Given the description of an element on the screen output the (x, y) to click on. 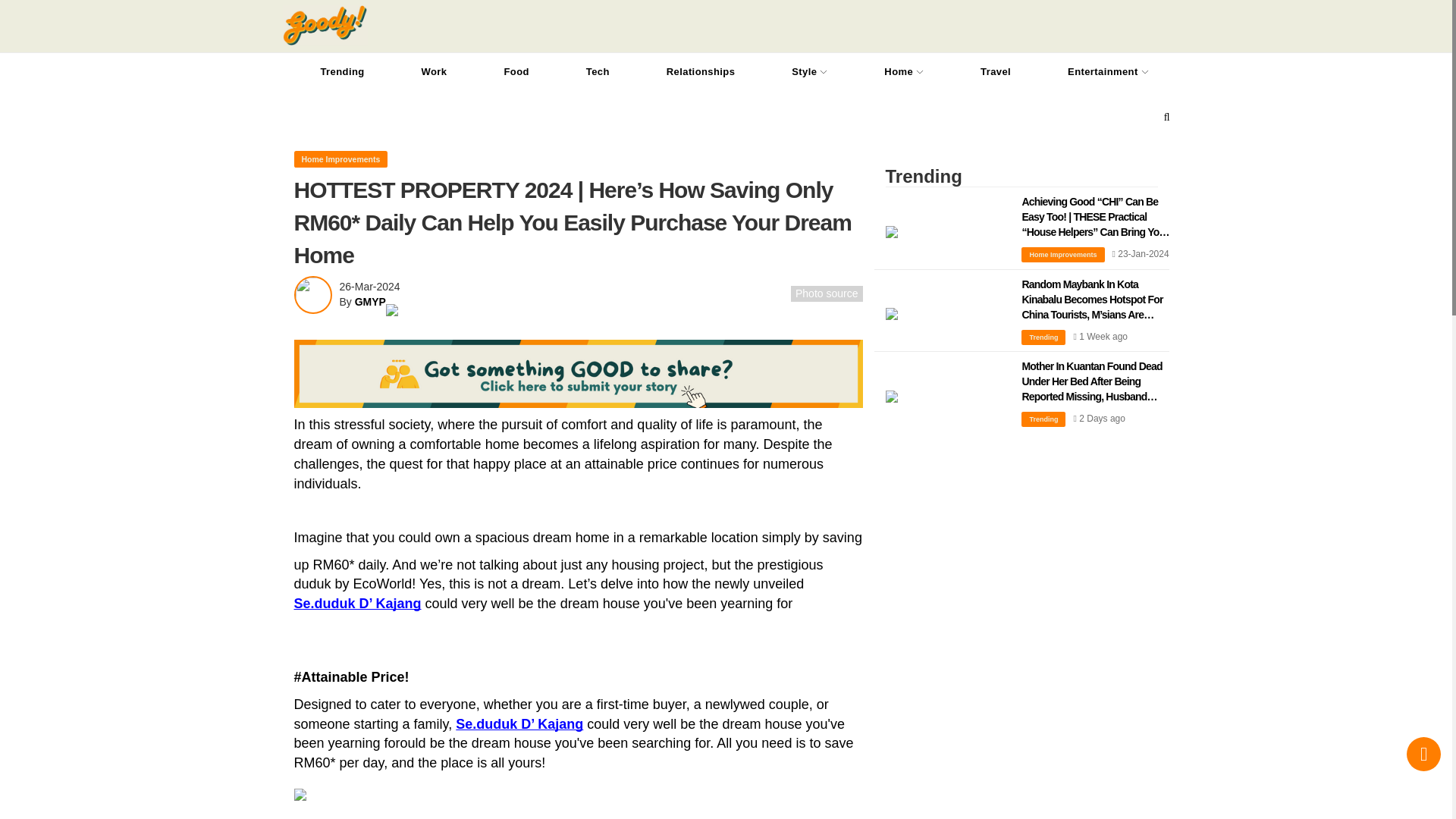
Work (434, 71)
Trending (809, 71)
Entertainment (1107, 71)
Home (903, 71)
Trending (342, 71)
Food (515, 71)
Photo source (826, 293)
Trending (903, 71)
Travel (994, 71)
Trending (994, 71)
